Given the description of an element on the screen output the (x, y) to click on. 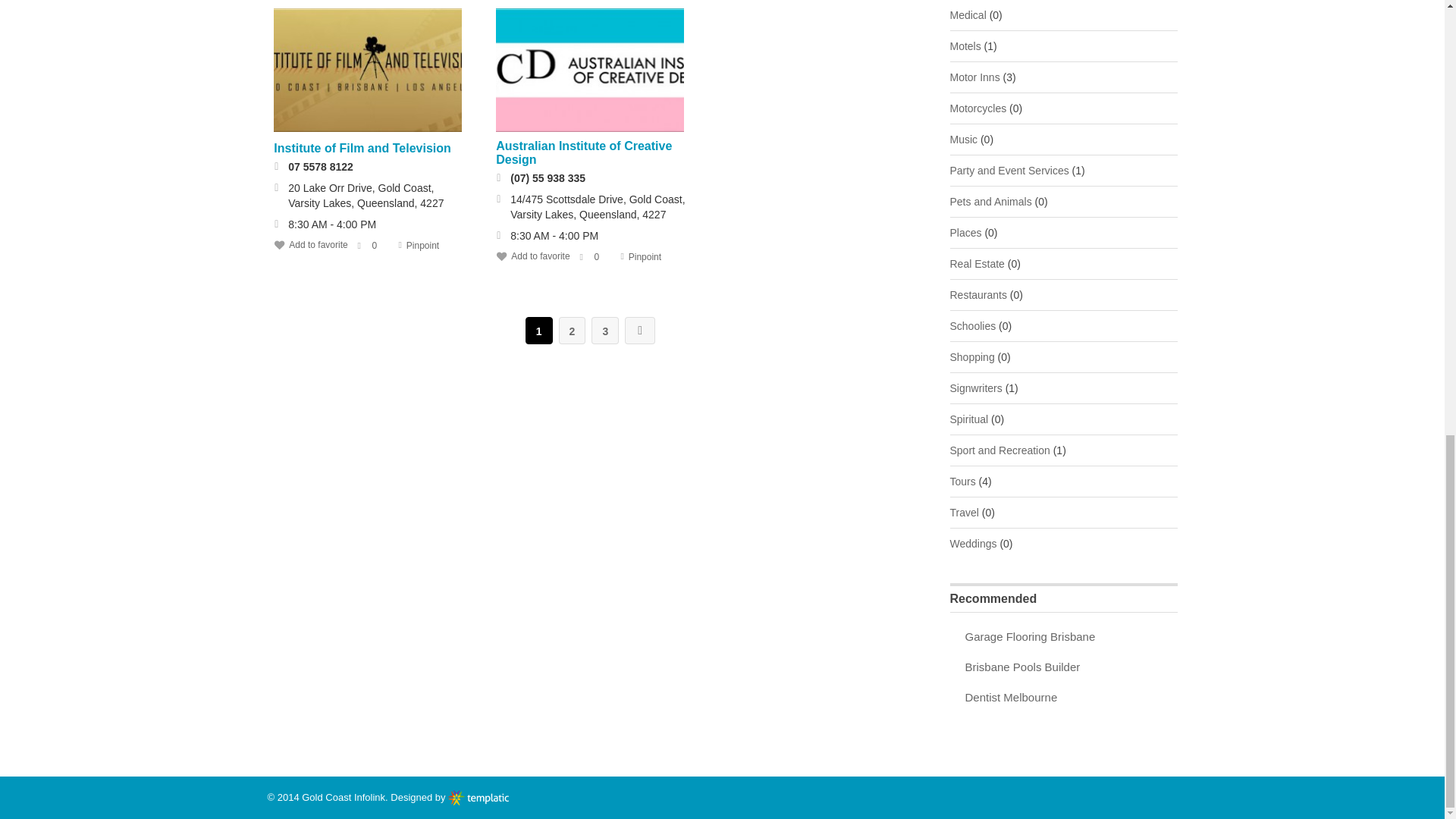
Dentist Melbourne (1010, 697)
Institute of Film and Television (362, 147)
Australian Institute of Creative Design (583, 152)
2 (572, 329)
Australian Institute of Creative Design (590, 70)
3 (604, 329)
Institute of Film and Television (367, 70)
